Given the description of an element on the screen output the (x, y) to click on. 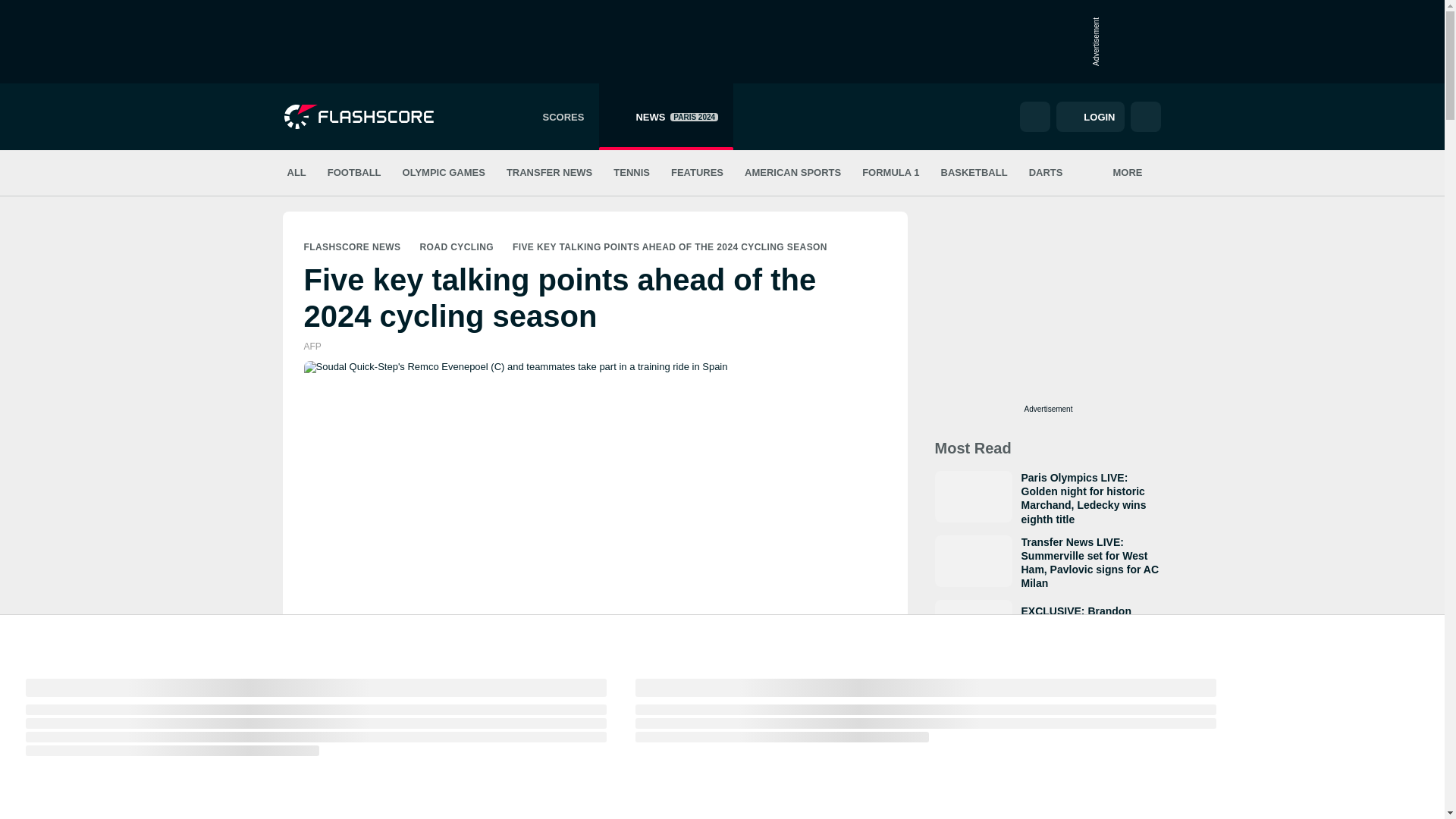
FORMULA 1 (889, 172)
EXCLUSIVE: Brandon Thomas-Asante set to join Coventry City (1047, 624)
EXCLUSIVE: Brandon Thomas-Asante set to join Coventry City (1047, 624)
FOOTBALL (354, 172)
SCORES (552, 116)
OLYMPIC GAMES (665, 116)
ROAD CYCLING (443, 172)
FLASHSCORE NEWS (456, 246)
BASKETBALL (351, 246)
AMERICAN SPORTS (973, 172)
